Given the description of an element on the screen output the (x, y) to click on. 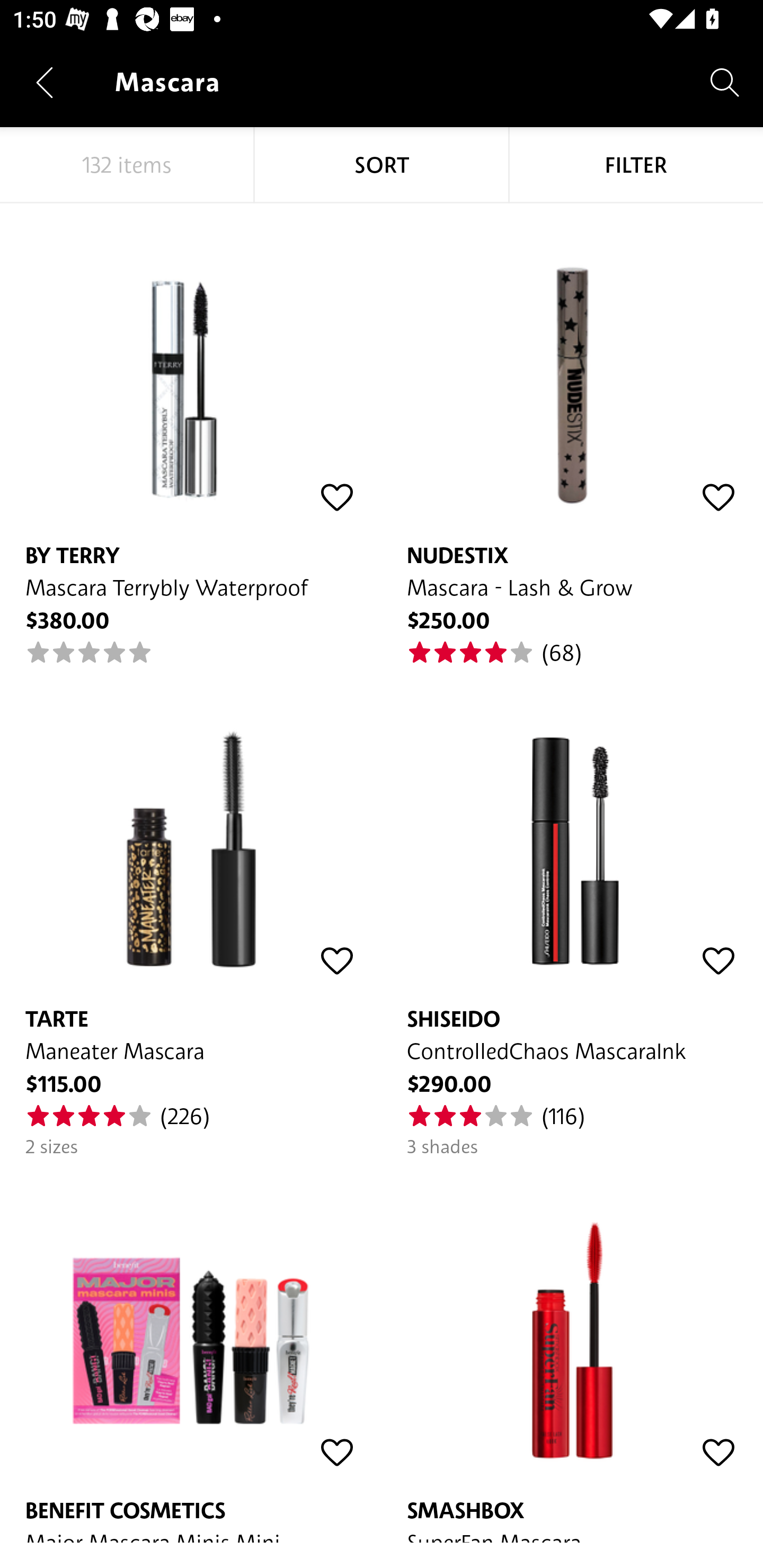
Navigate up (44, 82)
Search (724, 81)
SORT (381, 165)
FILTER (636, 165)
BY TERRY Mascara Terrybly Waterproof  $380.00 (190, 434)
NUDESTIX Mascara - Lash & Grow $250.00 (68) (571, 434)
TARTE Maneater Mascara $115.00 (226) 2 sizes (190, 912)
SMASHBOX SuperFan Mascara $220.00 (571, 1350)
